Given the description of an element on the screen output the (x, y) to click on. 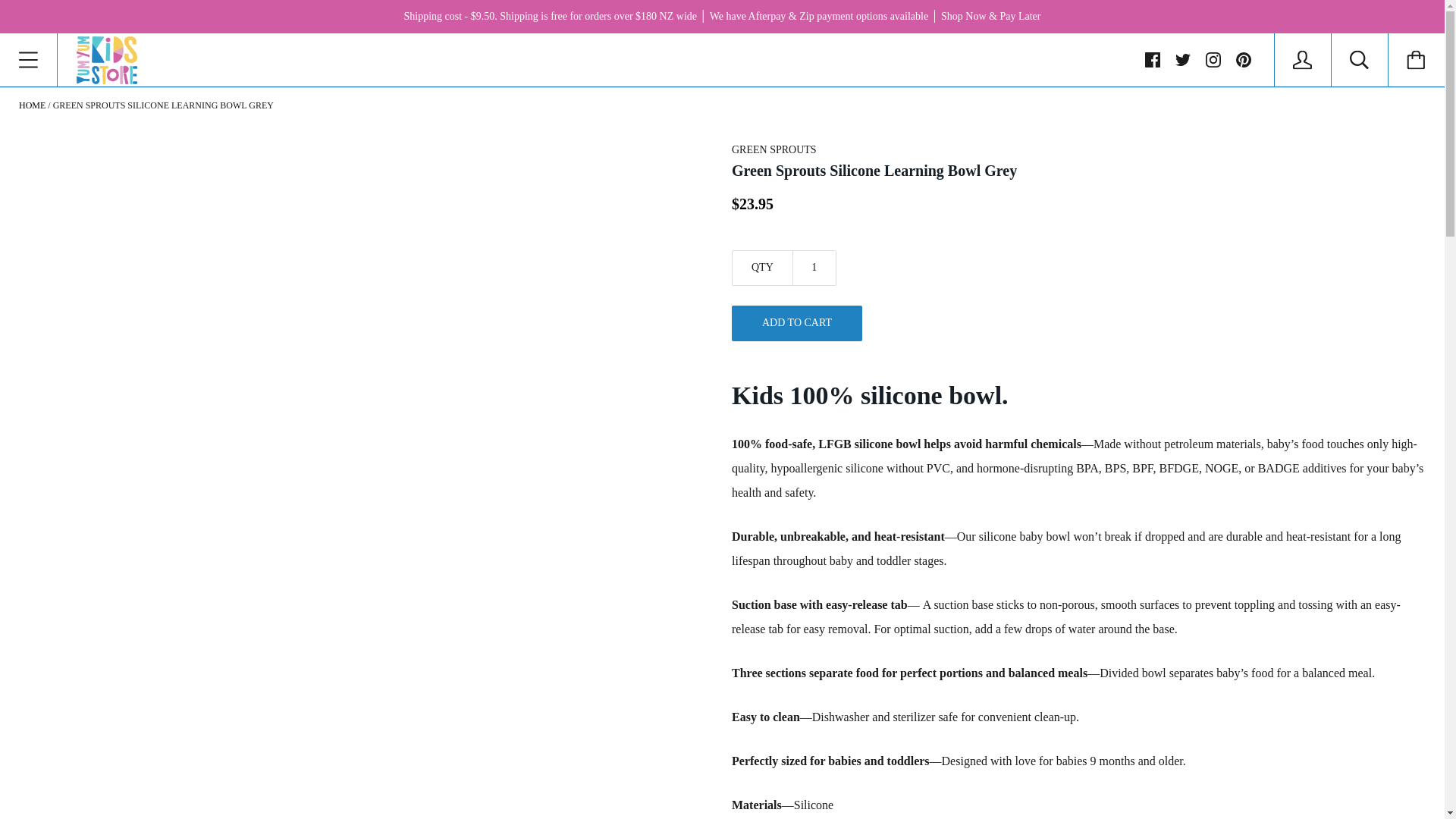
1 (814, 267)
